Given the description of an element on the screen output the (x, y) to click on. 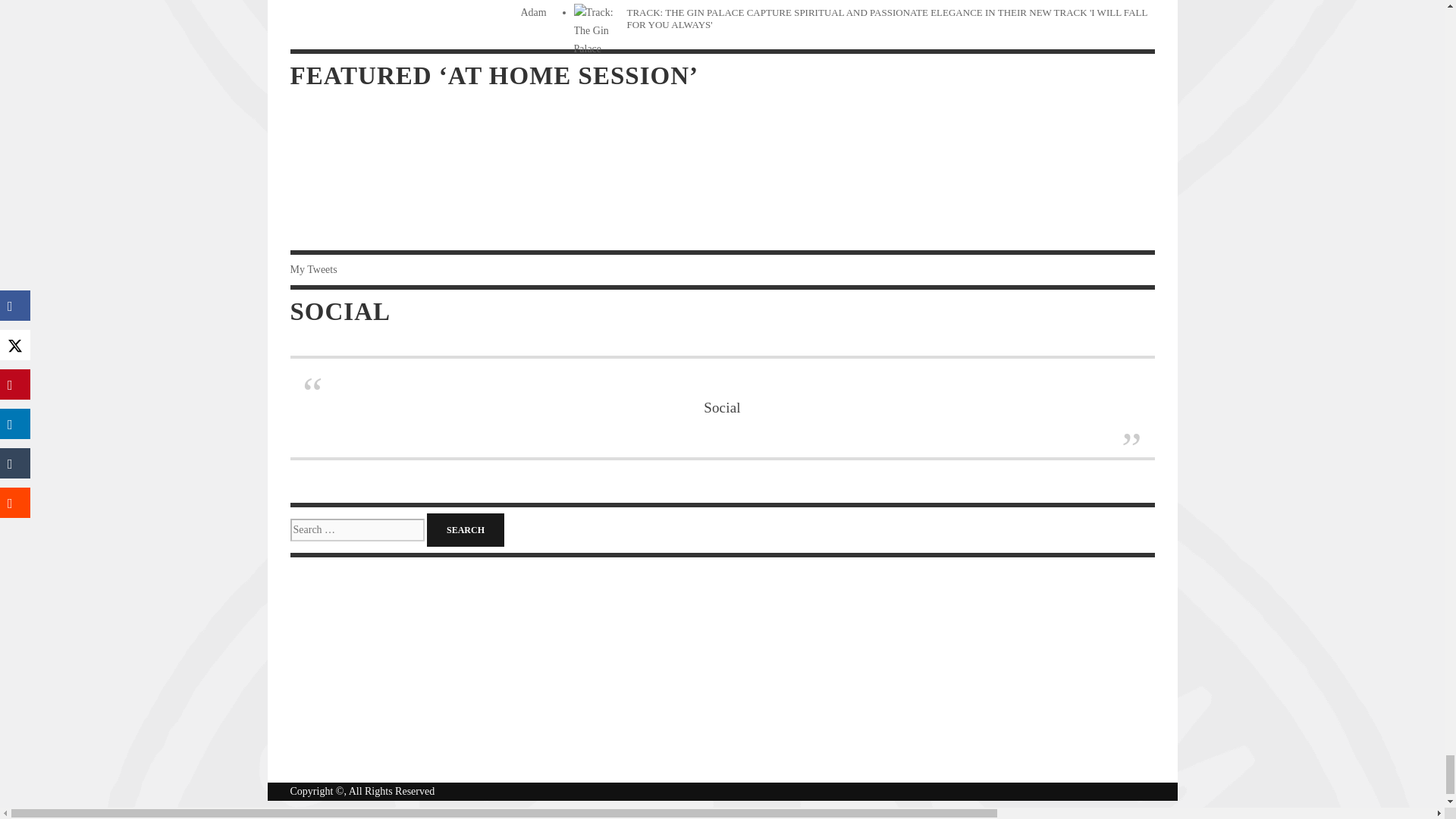
Search (464, 530)
Search (464, 530)
